Given the description of an element on the screen output the (x, y) to click on. 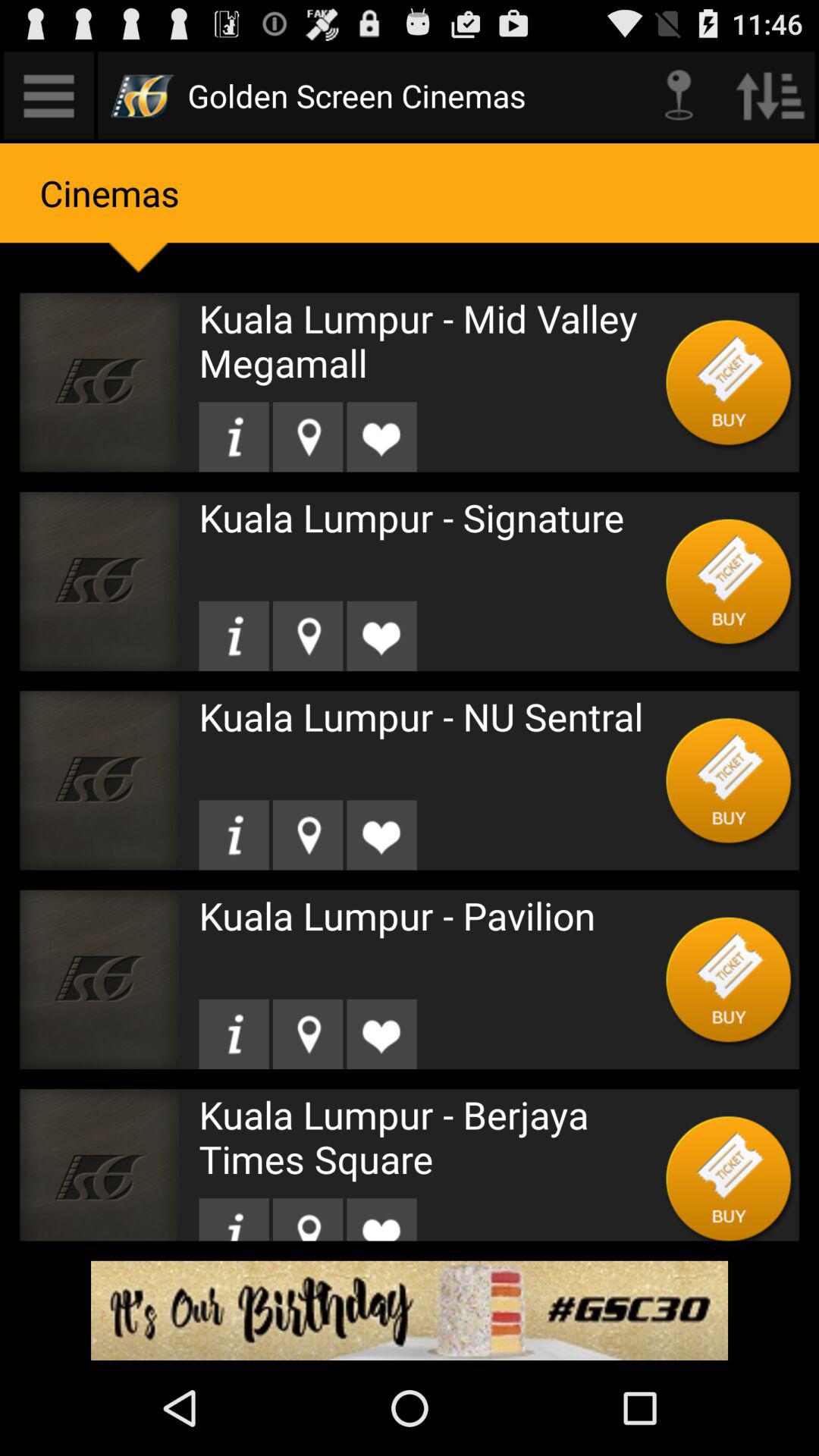
go do sealet (307, 1219)
